Given the description of an element on the screen output the (x, y) to click on. 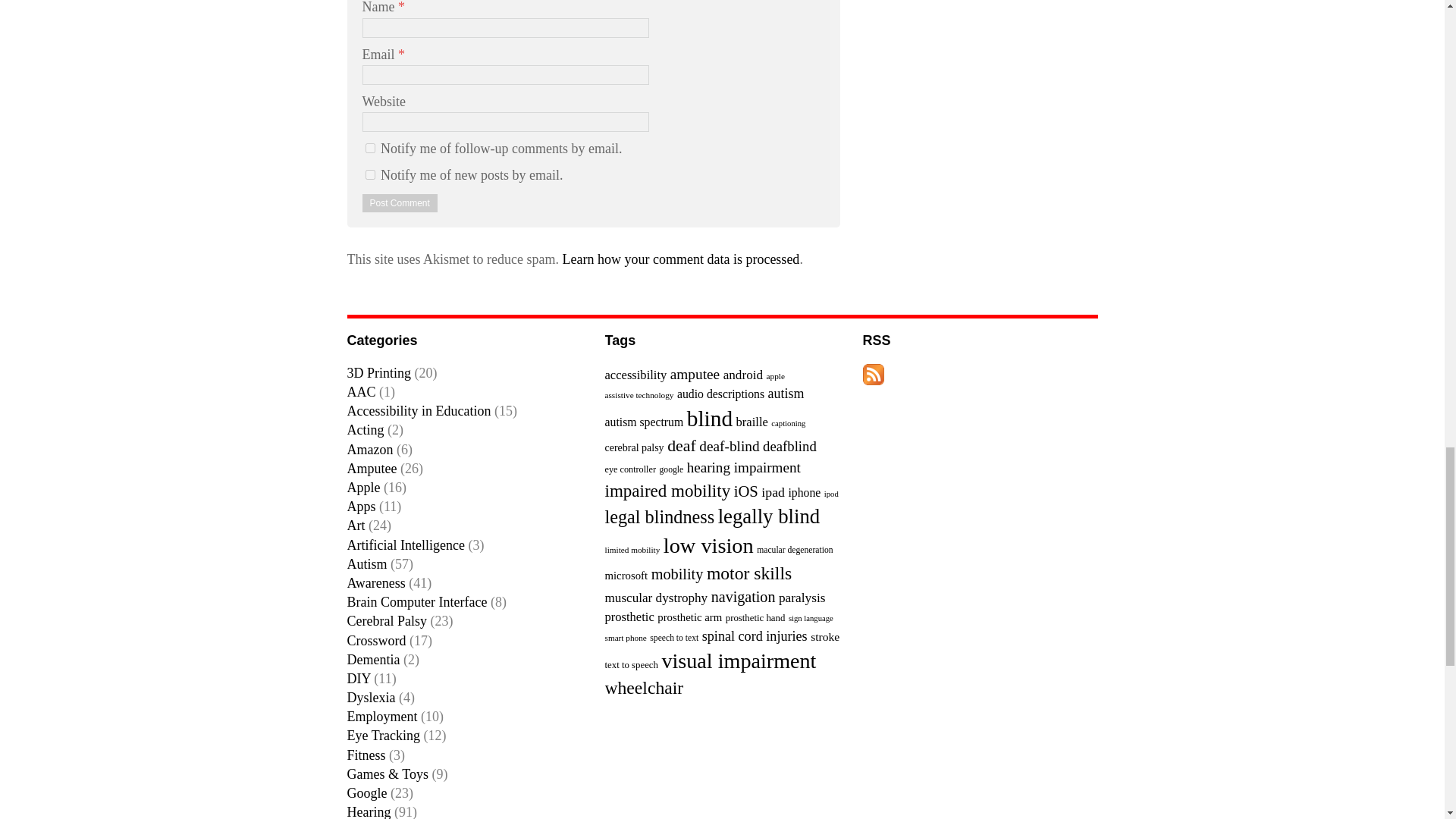
Post Comment (400, 203)
subscribe (370, 174)
subscribe (370, 148)
Subscribe to posts (873, 375)
Post Comment (400, 203)
Learn how your comment data is processed (680, 258)
